Given the description of an element on the screen output the (x, y) to click on. 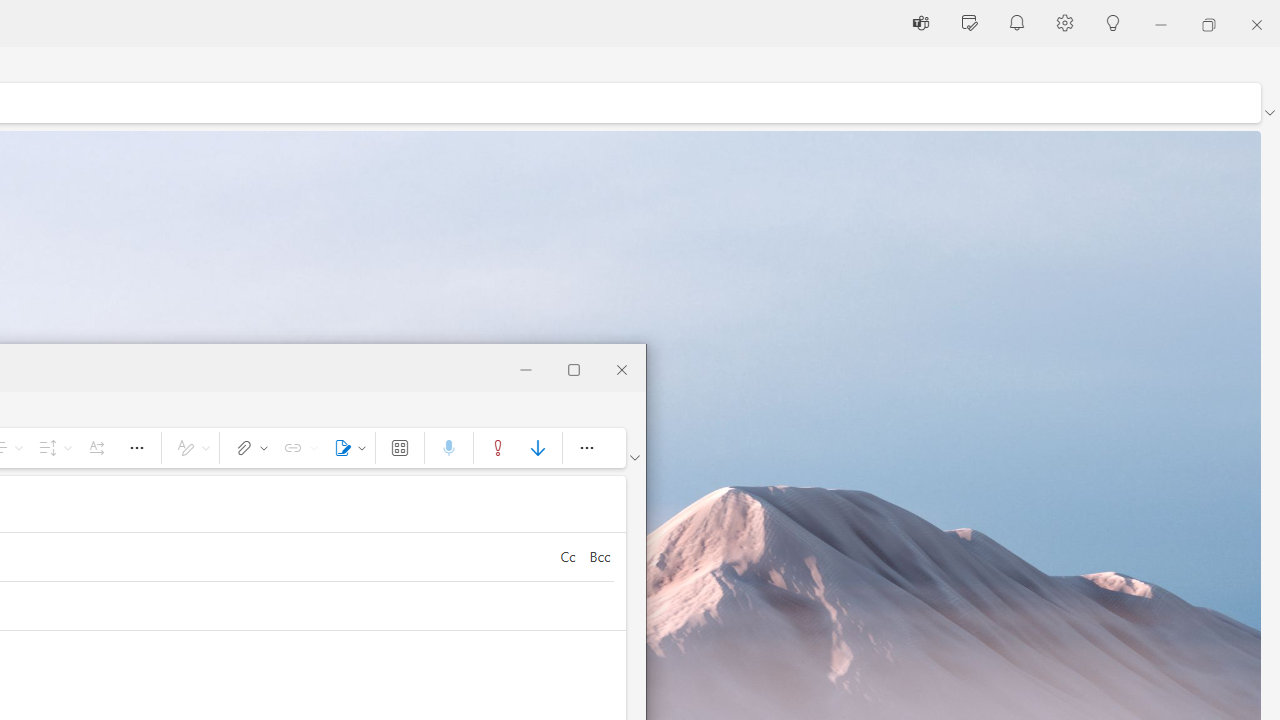
Bcc (599, 556)
Styles (190, 447)
